Given the description of an element on the screen output the (x, y) to click on. 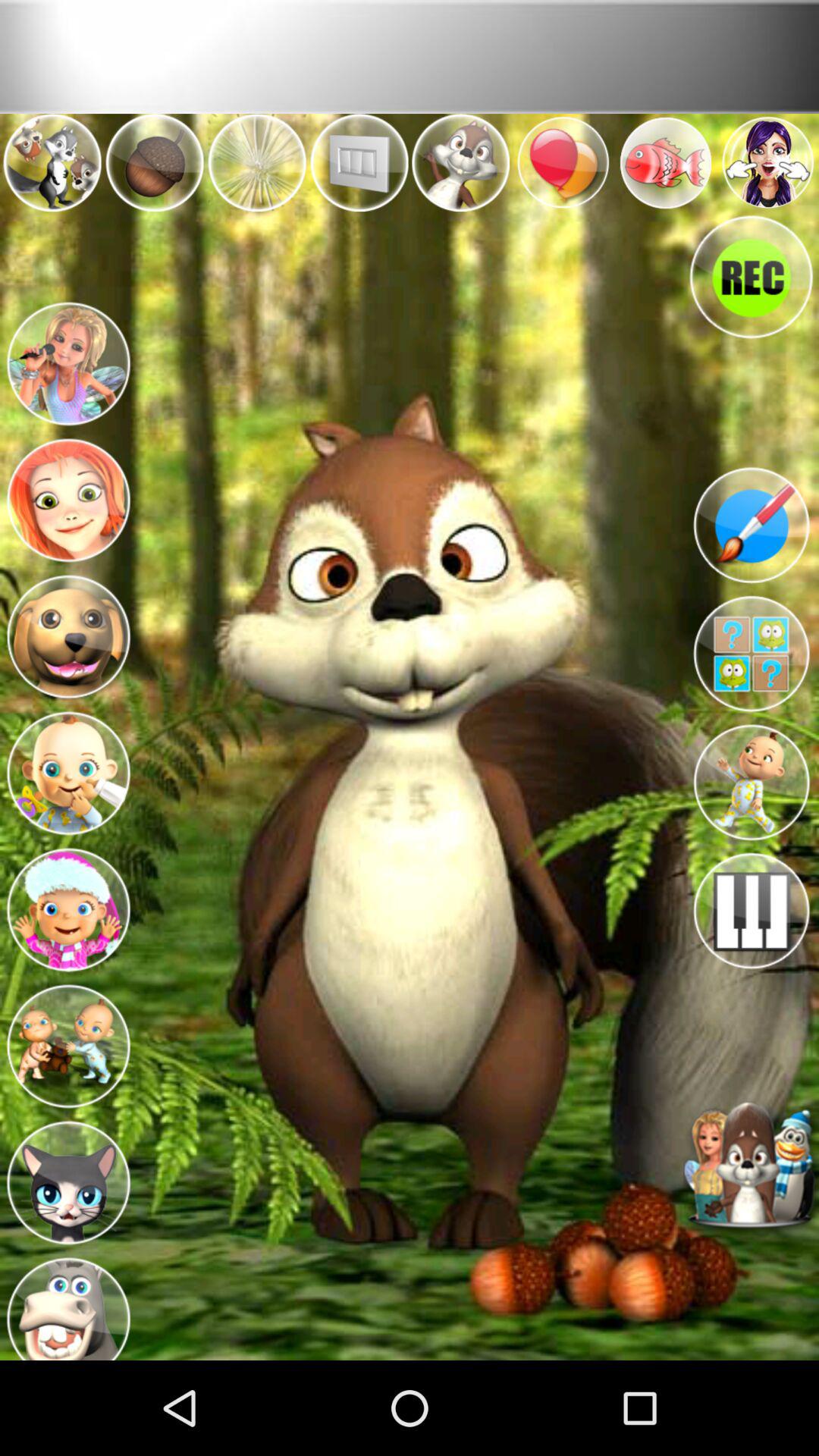
choose picture (68, 905)
